Given the description of an element on the screen output the (x, y) to click on. 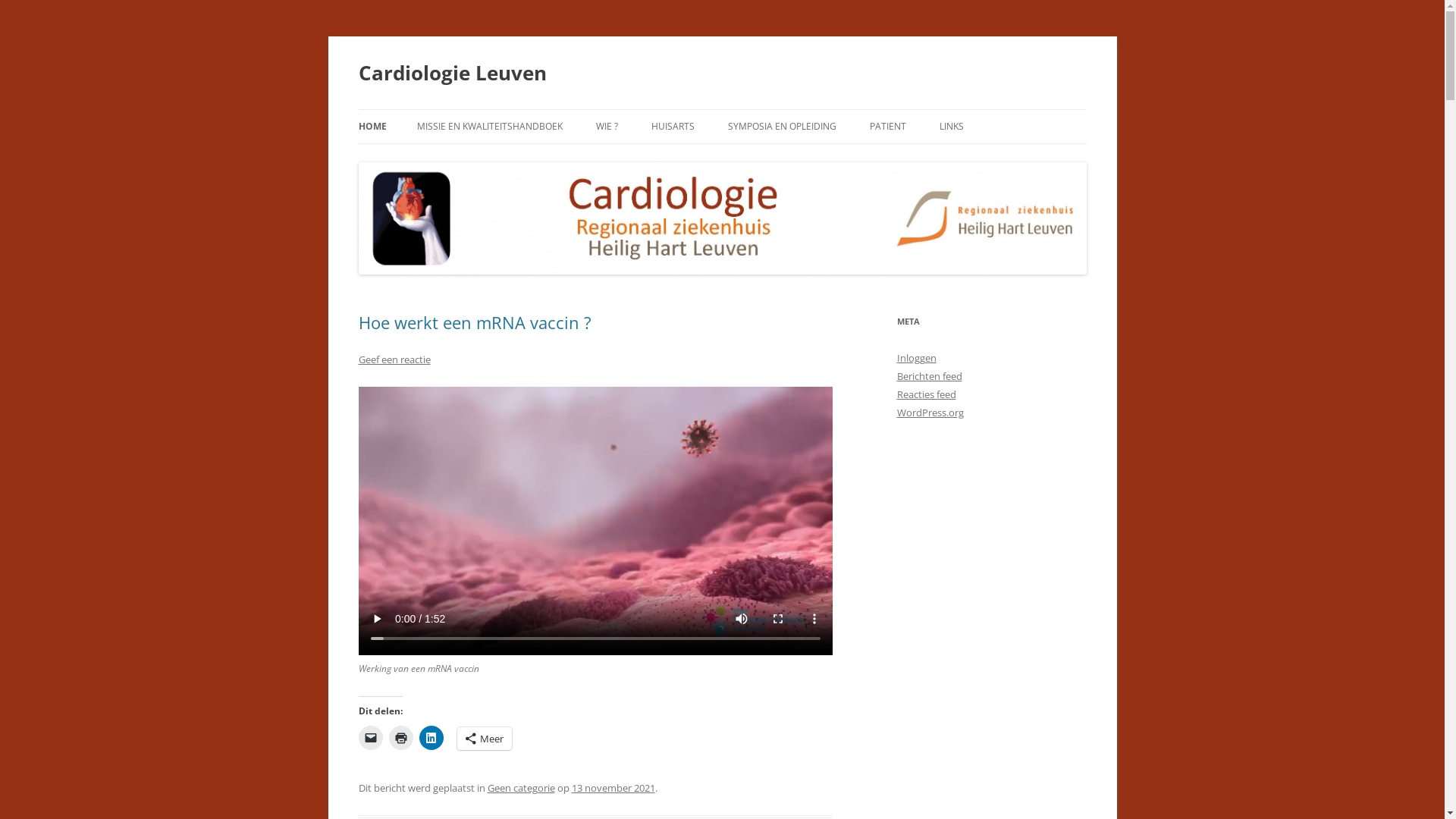
PATIENT Element type: text (887, 126)
CARDIOLOGEN Element type: text (671, 158)
Meer Element type: text (483, 738)
HOME Element type: text (371, 126)
LINKS Element type: text (950, 126)
Geef een reactie Element type: text (393, 359)
DIABETES SYMPOSIUM 22/4/2017 Element type: text (803, 158)
MISSIE EN KWALITEITSHANDBOEK Element type: text (489, 126)
Geen categorie Element type: text (520, 787)
Inloggen Element type: text (915, 357)
PATIENTENINFORMATIE Element type: text (1014, 158)
Spring naar inhoud Element type: text (721, 109)
Hoe werkt een mRNA vaccin ? Element type: text (473, 321)
SYMPOSIA EN OPLEIDING Element type: text (782, 126)
13 november 2021 Element type: text (613, 787)
WordPress.org Element type: text (929, 412)
PREVENTIE Element type: text (726, 158)
Klik om af te drukken (Wordt in een nieuw venster geopend) Element type: text (400, 737)
ANTISTOLTHERAPIE Element type: text (944, 158)
Cardiologie Leuven Element type: text (451, 72)
WIE ? Element type: text (607, 126)
HUISARTS Element type: text (671, 126)
Berichten feed Element type: text (928, 375)
Reacties feed Element type: text (925, 394)
